Given the description of an element on the screen output the (x, y) to click on. 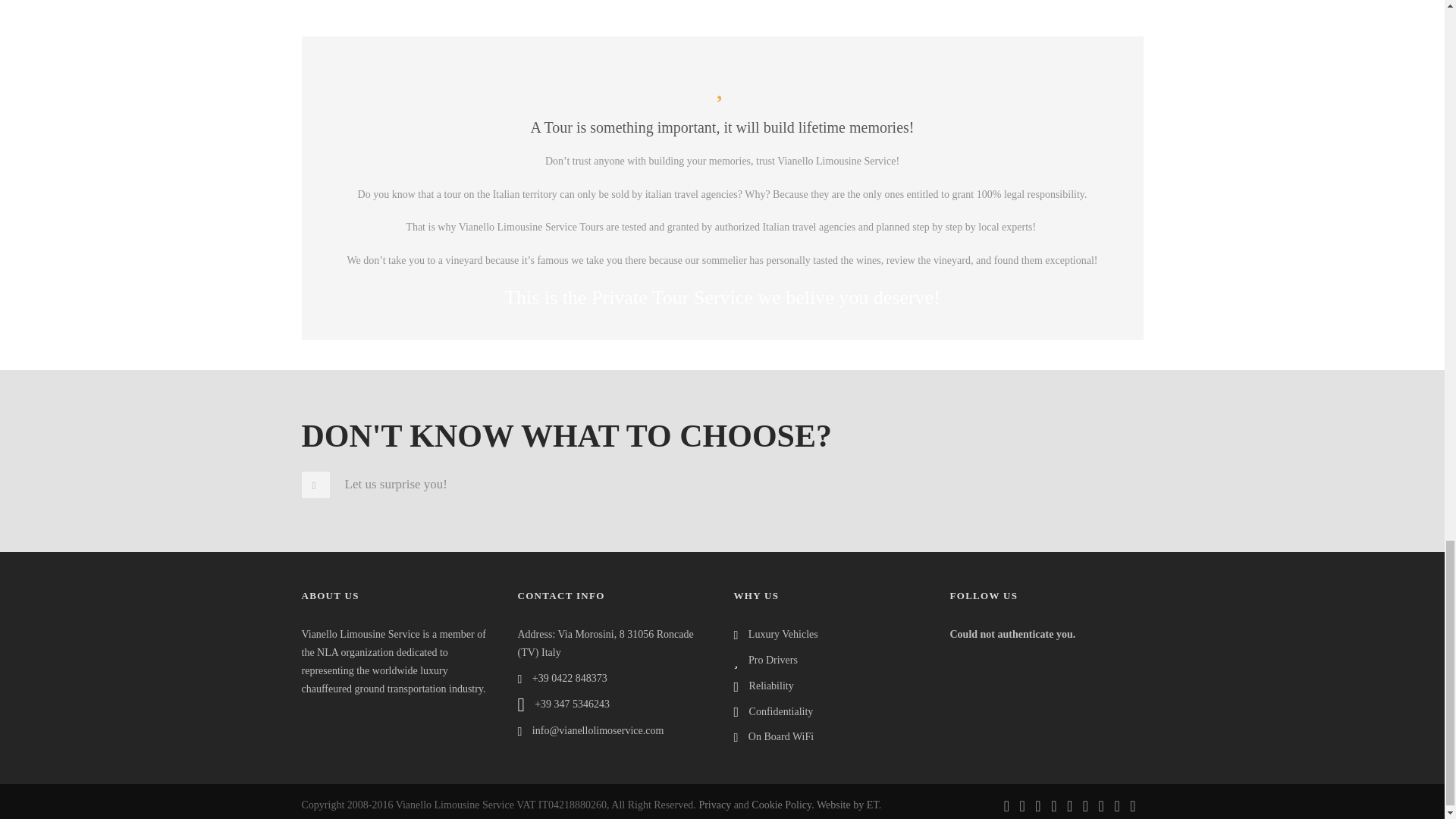
Website by ET (847, 804)
Reliability (771, 685)
Privacy (714, 804)
Luxury Vehicles (783, 633)
Confidentiality (781, 711)
Cookie Policy. (782, 804)
Pro Drivers (772, 659)
On Board WiFi (780, 736)
